Given the description of an element on the screen output the (x, y) to click on. 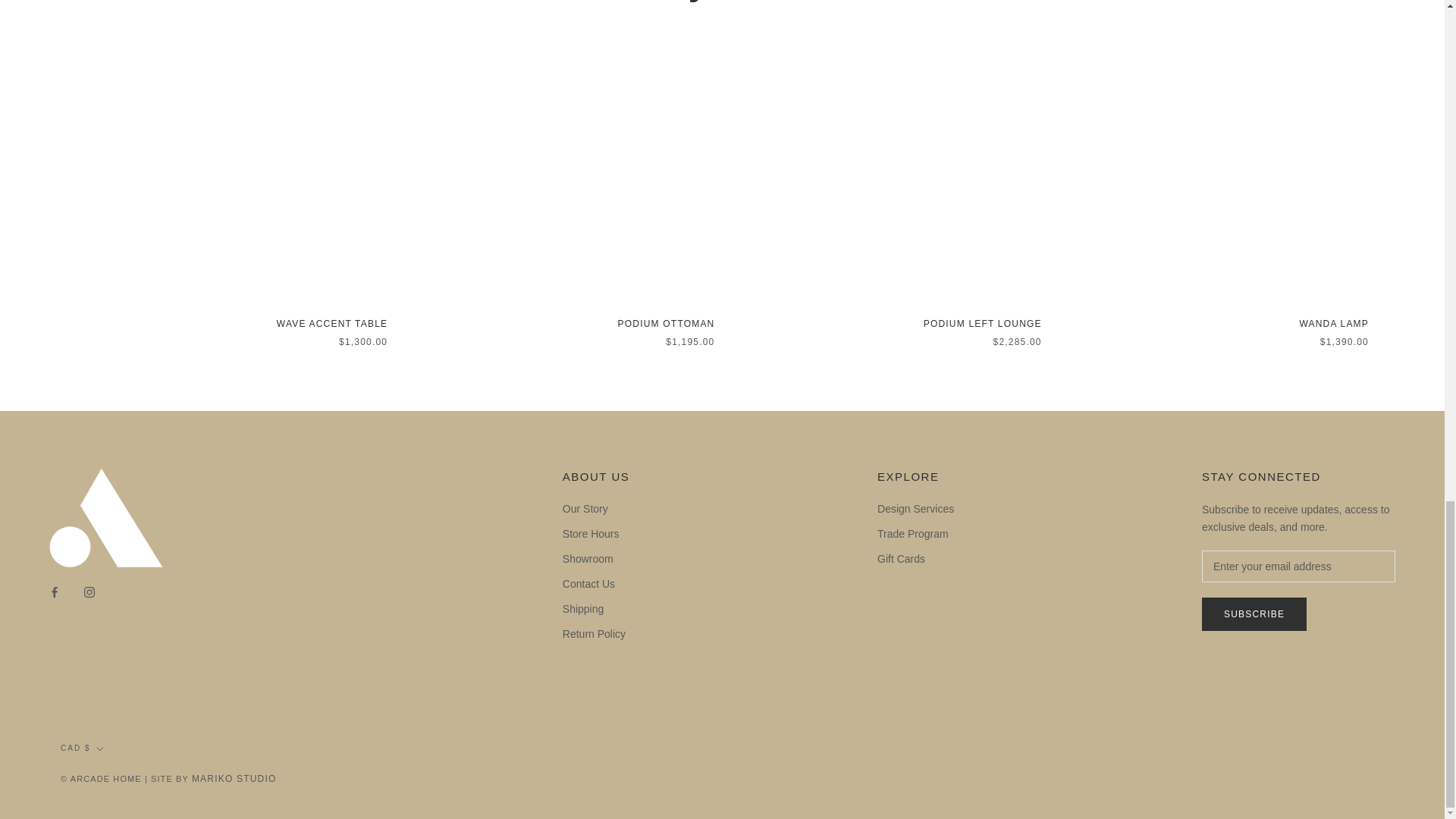
Site Credit (234, 778)
